Given the description of an element on the screen output the (x, y) to click on. 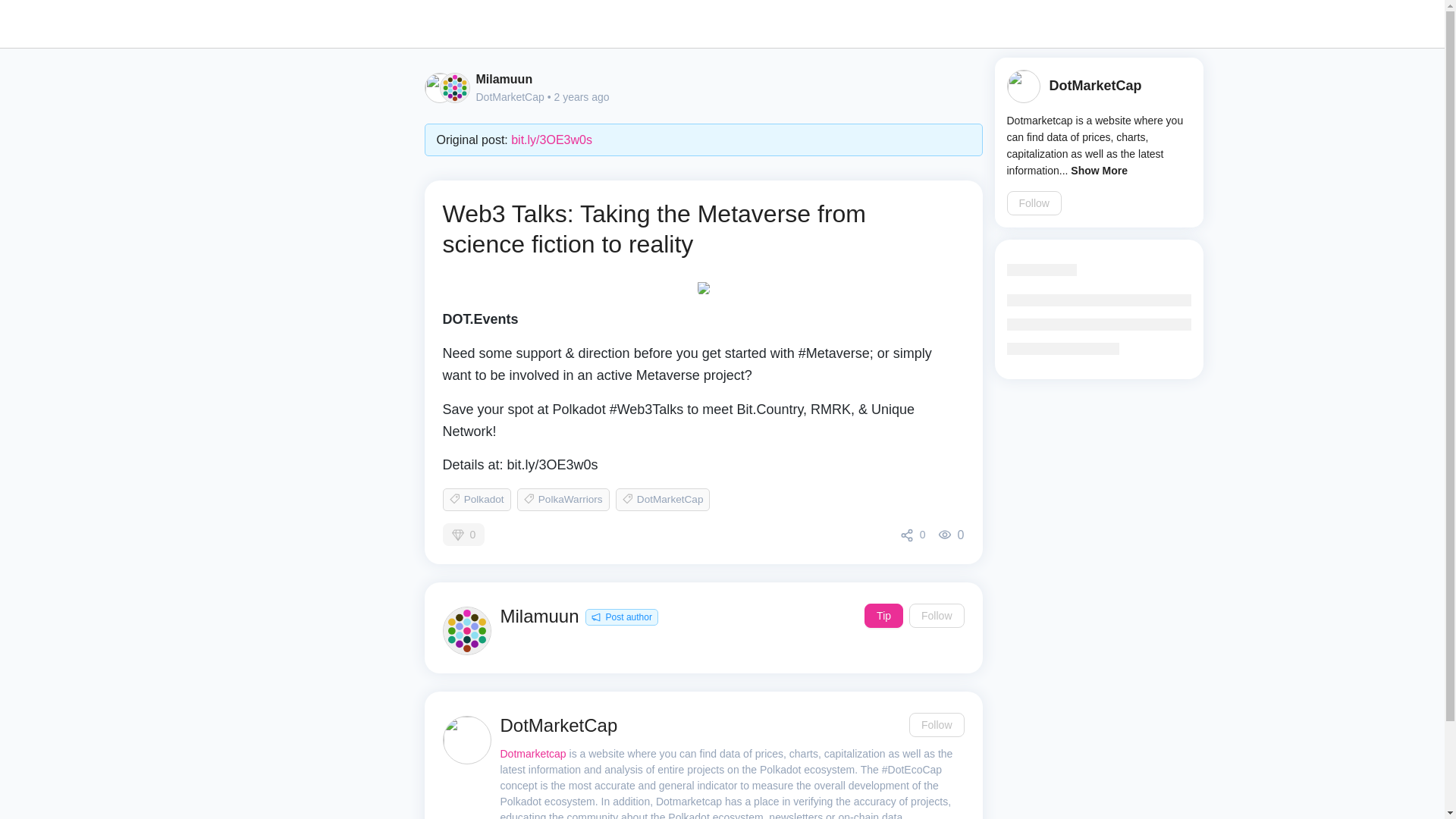
DotMarketCap (510, 96)
DotMarketCap (662, 499)
DotMarketCap (1095, 85)
0 (912, 534)
Share (912, 534)
Follow (935, 724)
Polkadot (475, 499)
PolkaWarriors (563, 499)
Follow (935, 615)
0 (463, 534)
